Given the description of an element on the screen output the (x, y) to click on. 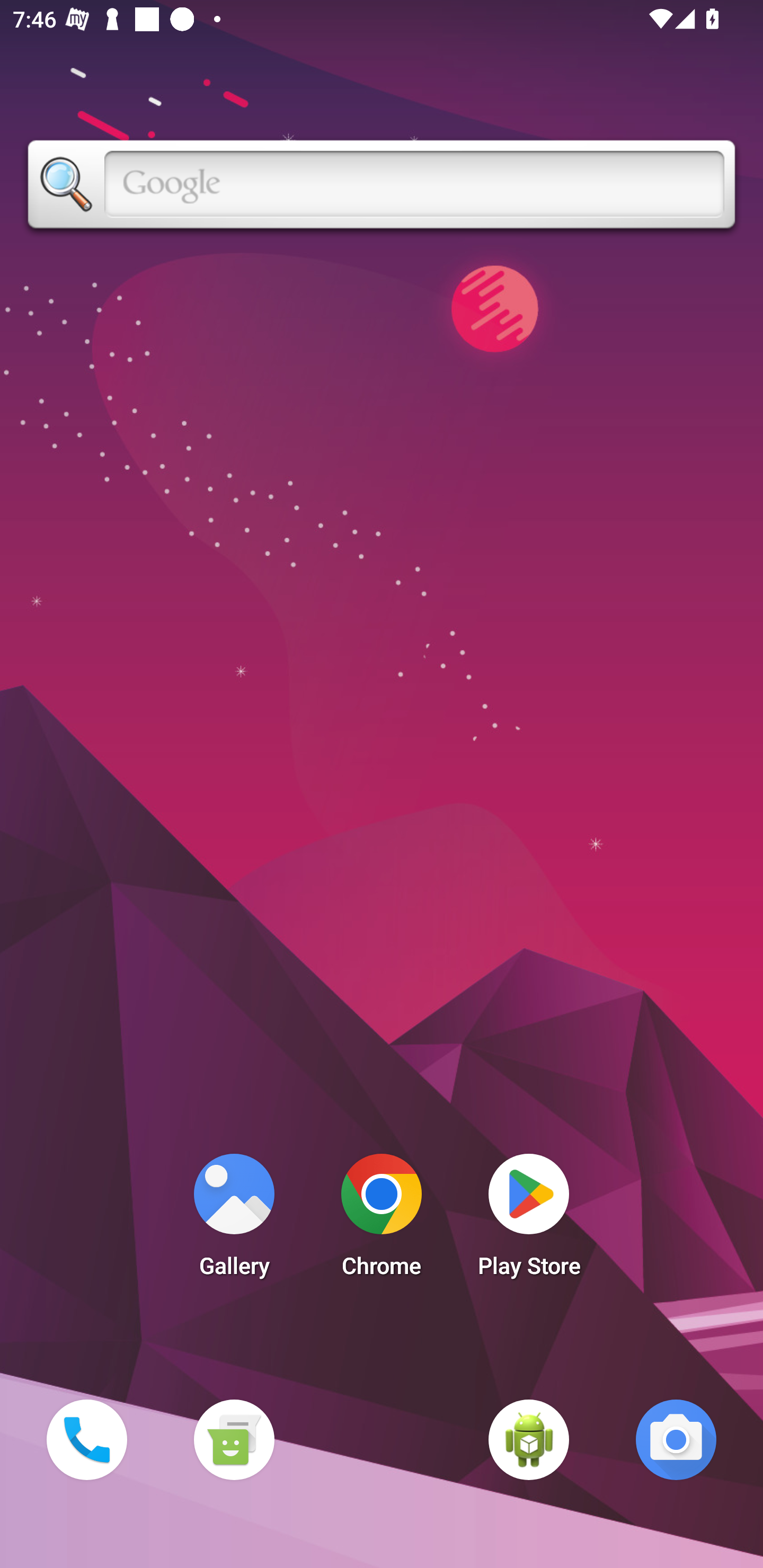
Gallery (233, 1220)
Chrome (381, 1220)
Play Store (528, 1220)
Phone (86, 1439)
Messaging (233, 1439)
WebView Browser Tester (528, 1439)
Camera (676, 1439)
